Given the description of an element on the screen output the (x, y) to click on. 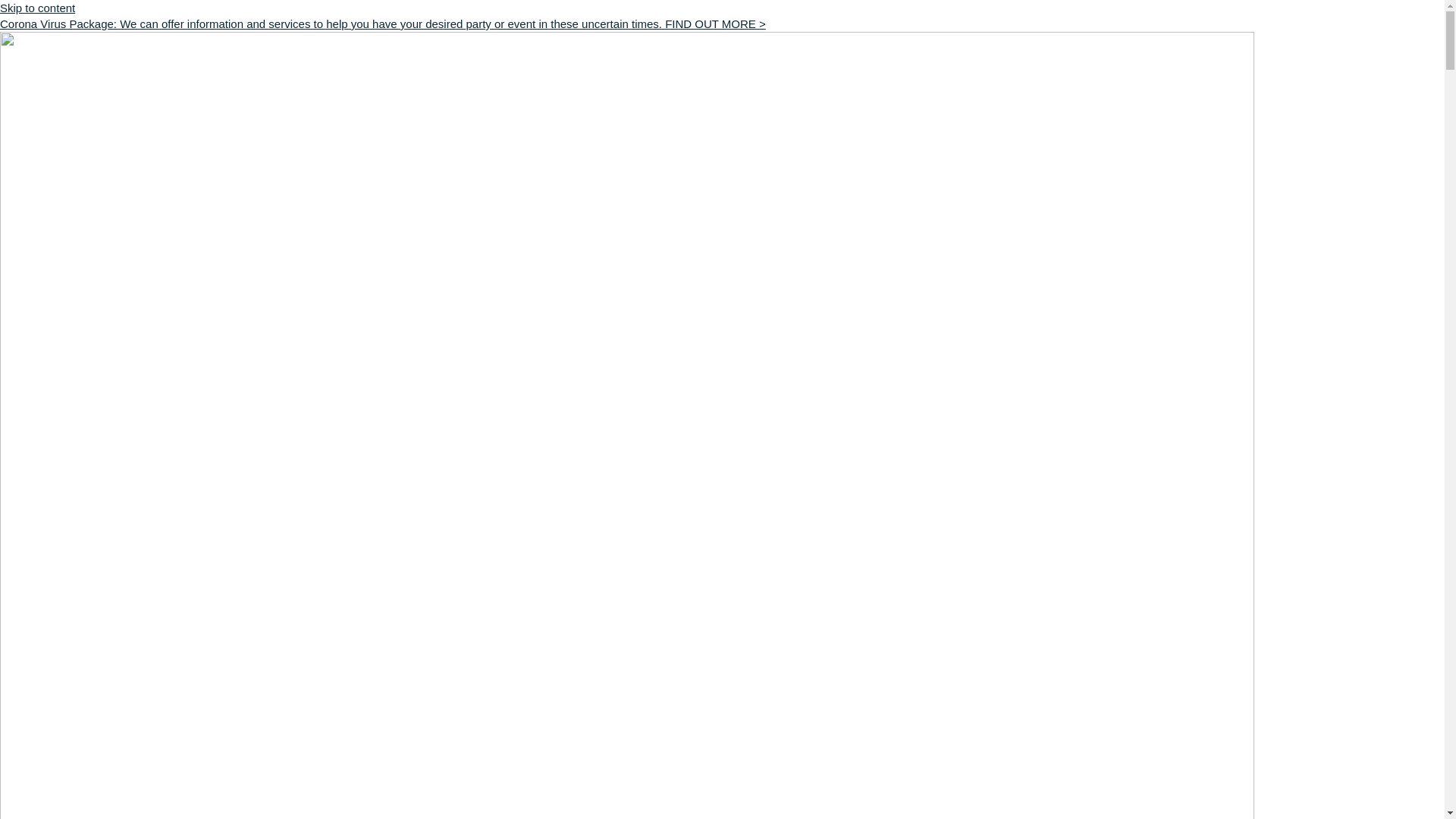
Skip to content Element type: text (37, 7)
